Given the description of an element on the screen output the (x, y) to click on. 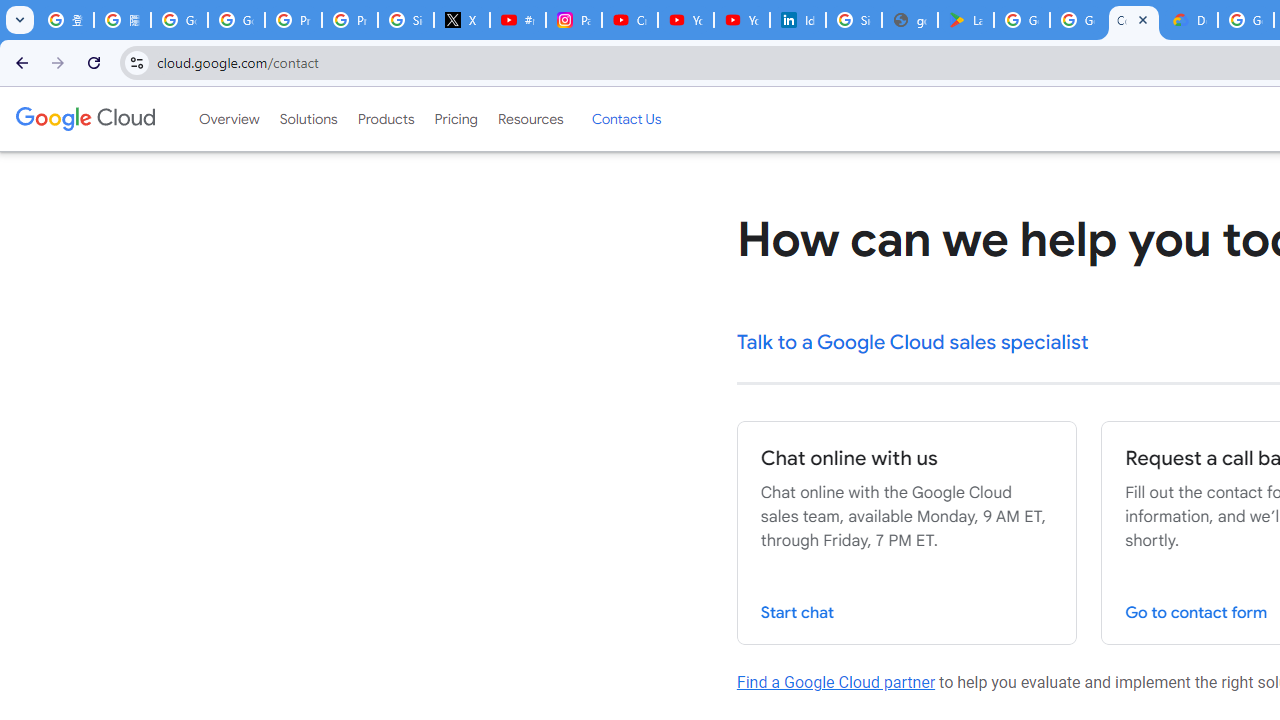
System (10, 11)
Google Workspace - Specific Terms (1077, 20)
google_privacy_policy_en.pdf (909, 20)
Last Shelter: Survival - Apps on Google Play (966, 20)
YouTube Culture & Trends - YouTube Top 10, 2021 (742, 20)
Products (385, 119)
Contact Us (626, 119)
Sign in - Google Accounts (405, 20)
Overview (228, 119)
